Given the description of an element on the screen output the (x, y) to click on. 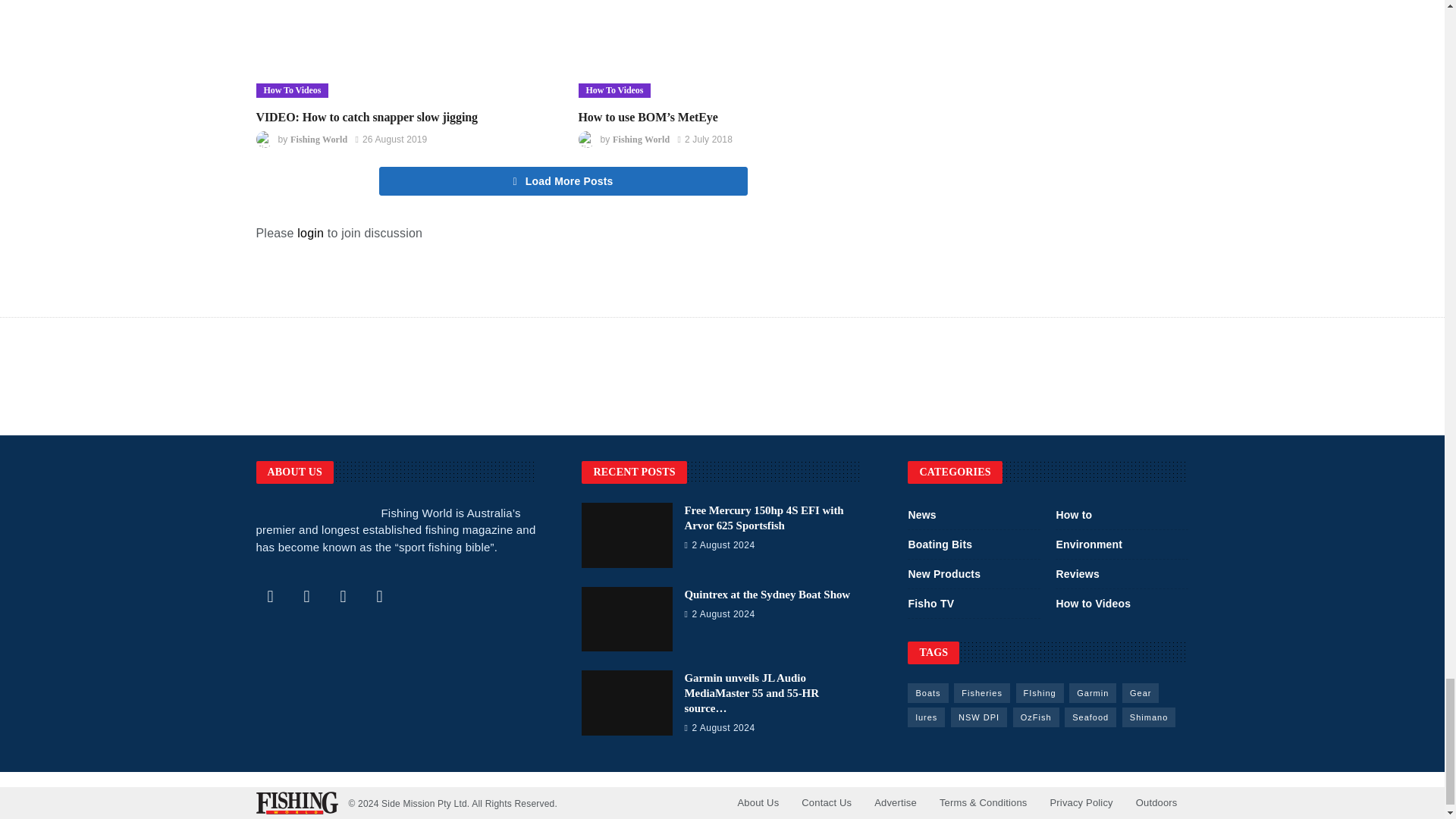
Free Mercury 150hp 4S EFI with Arvor 625 Sportsfish (763, 517)
VIDEO: How to catch snapper slow jigging (402, 48)
Load More Posts (563, 181)
VIDEO: How to catch snapper slow jigging (367, 116)
Quintrex at the Sydney Boat Show (626, 619)
Free Mercury 150hp 4S EFI with Arvor 625 Sportsfish (626, 535)
